Given the description of an element on the screen output the (x, y) to click on. 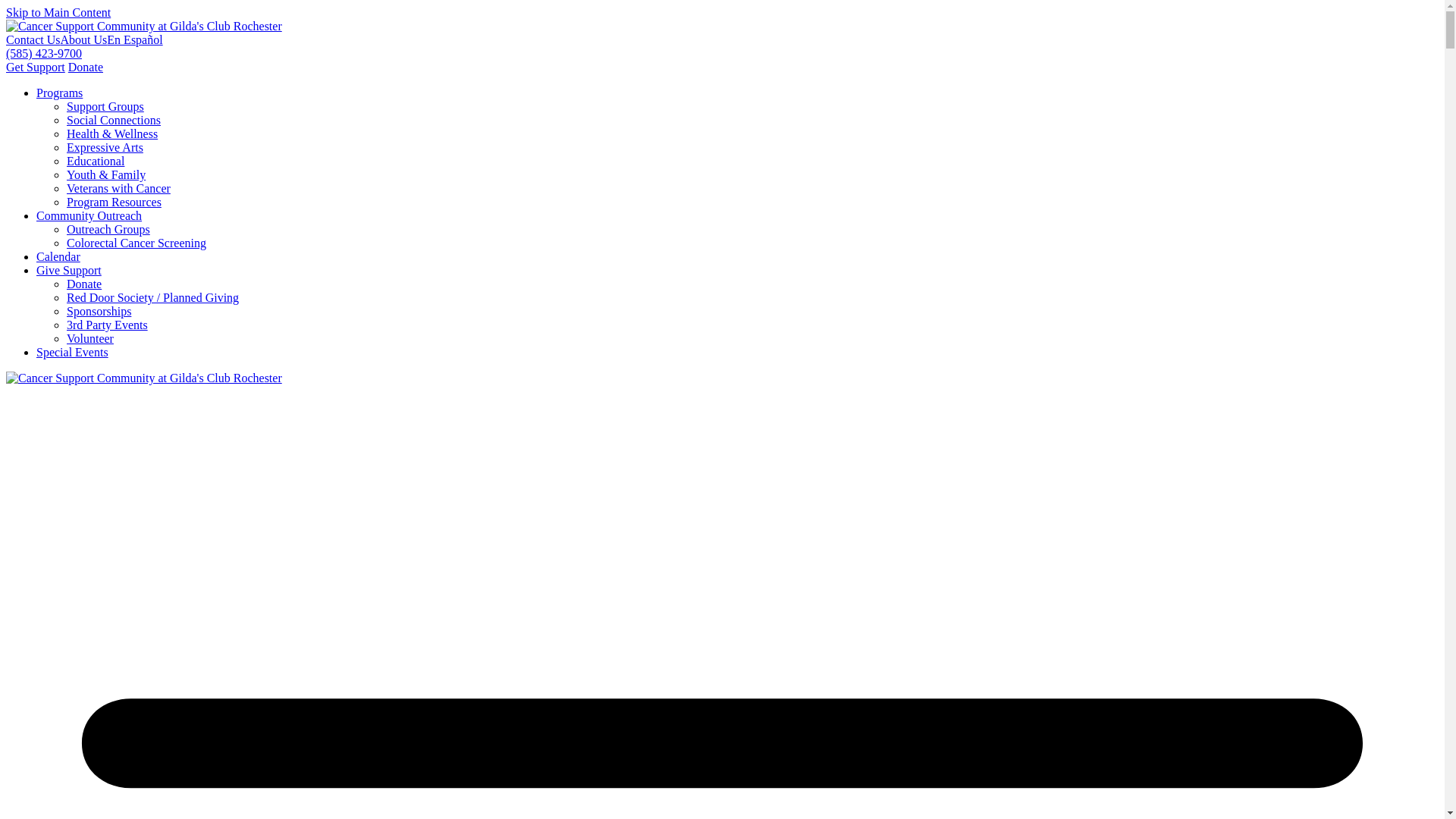
Outreach Groups (107, 228)
Social Connections (113, 119)
Veterans with Cancer (118, 187)
Expressive Arts (104, 146)
About Us (84, 39)
Give Support (68, 269)
3rd Party Events (107, 324)
Volunteer (89, 338)
Sponsorships (98, 310)
Educational (94, 160)
